Given the description of an element on the screen output the (x, y) to click on. 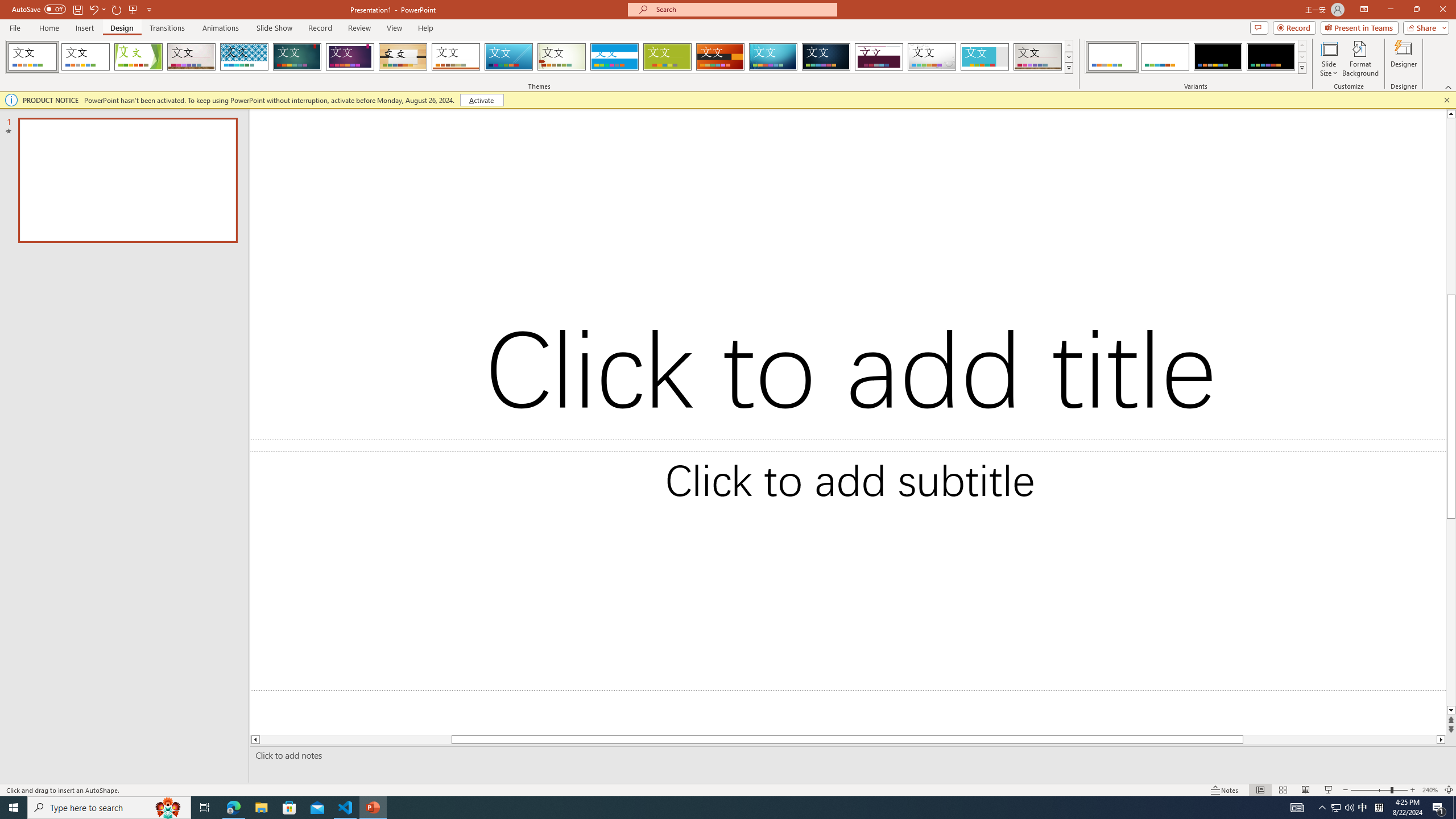
Slide Size (1328, 58)
Zoom 240% (1430, 790)
Office Theme Variant 1 (1112, 56)
Basis (667, 56)
AutomationID: SlideThemesGallery (539, 56)
Office Theme (85, 56)
Frame (984, 56)
Variants (1301, 67)
Dividend (879, 56)
